Given the description of an element on the screen output the (x, y) to click on. 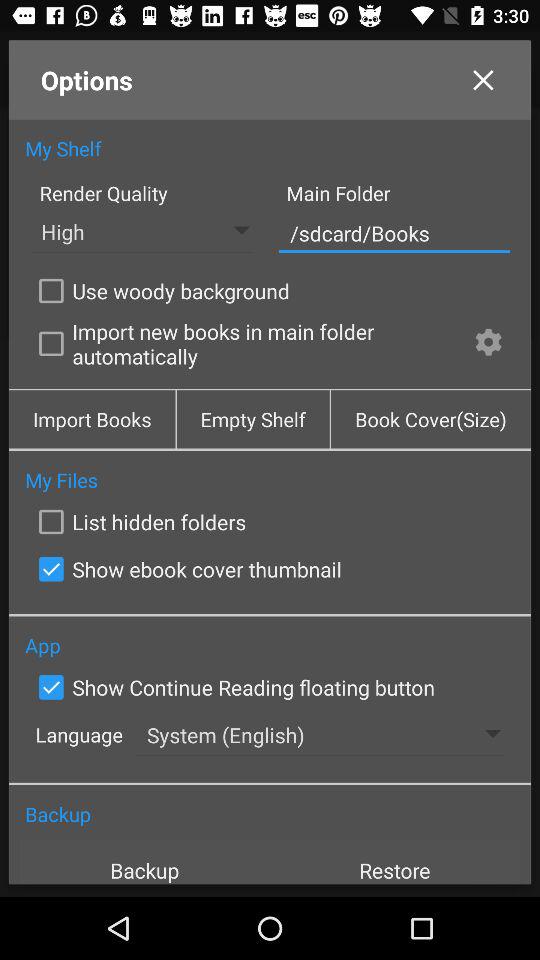
open icon below my files app (138, 522)
